Given the description of an element on the screen output the (x, y) to click on. 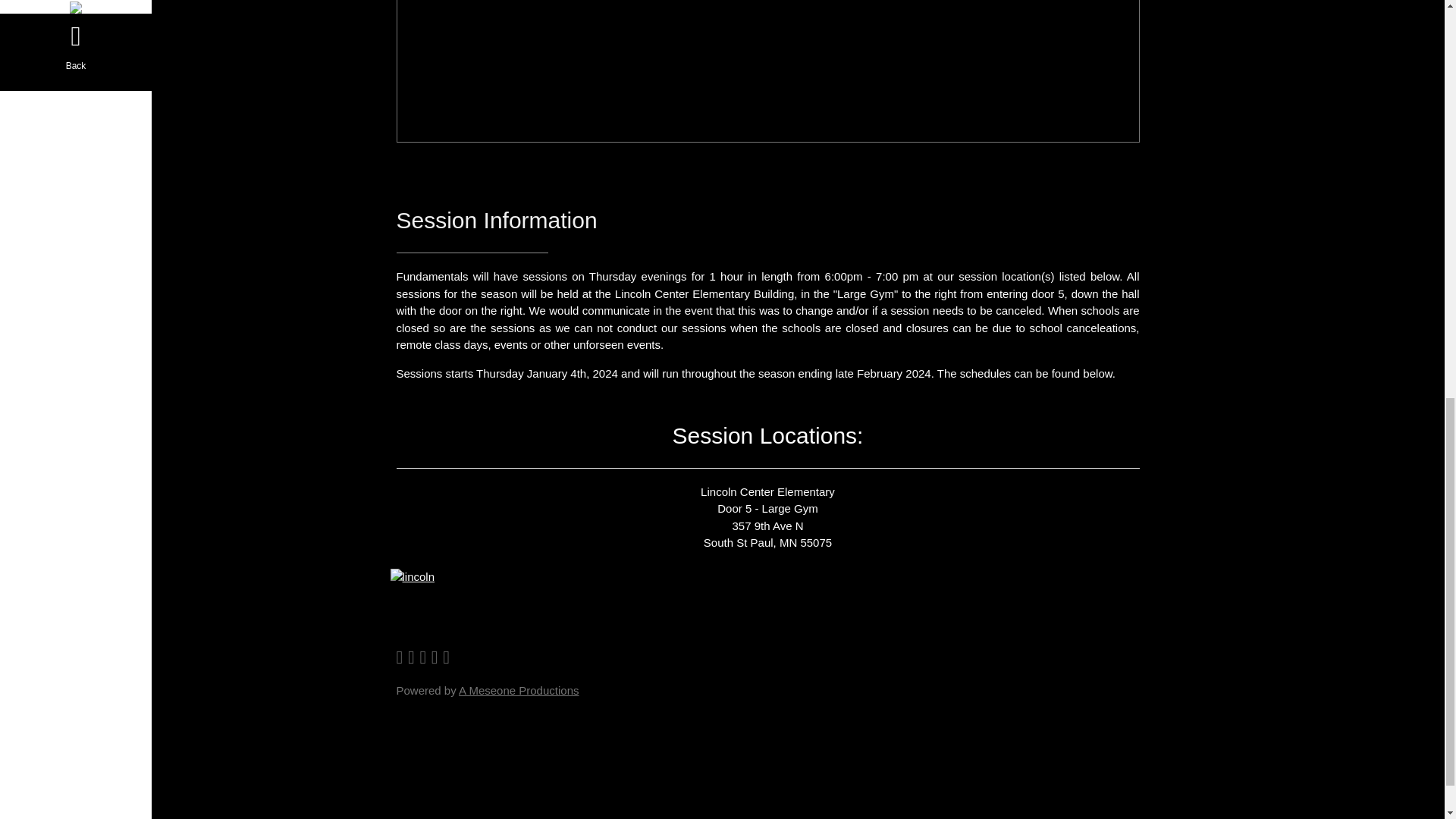
A Meseone Productions (518, 689)
